Given the description of an element on the screen output the (x, y) to click on. 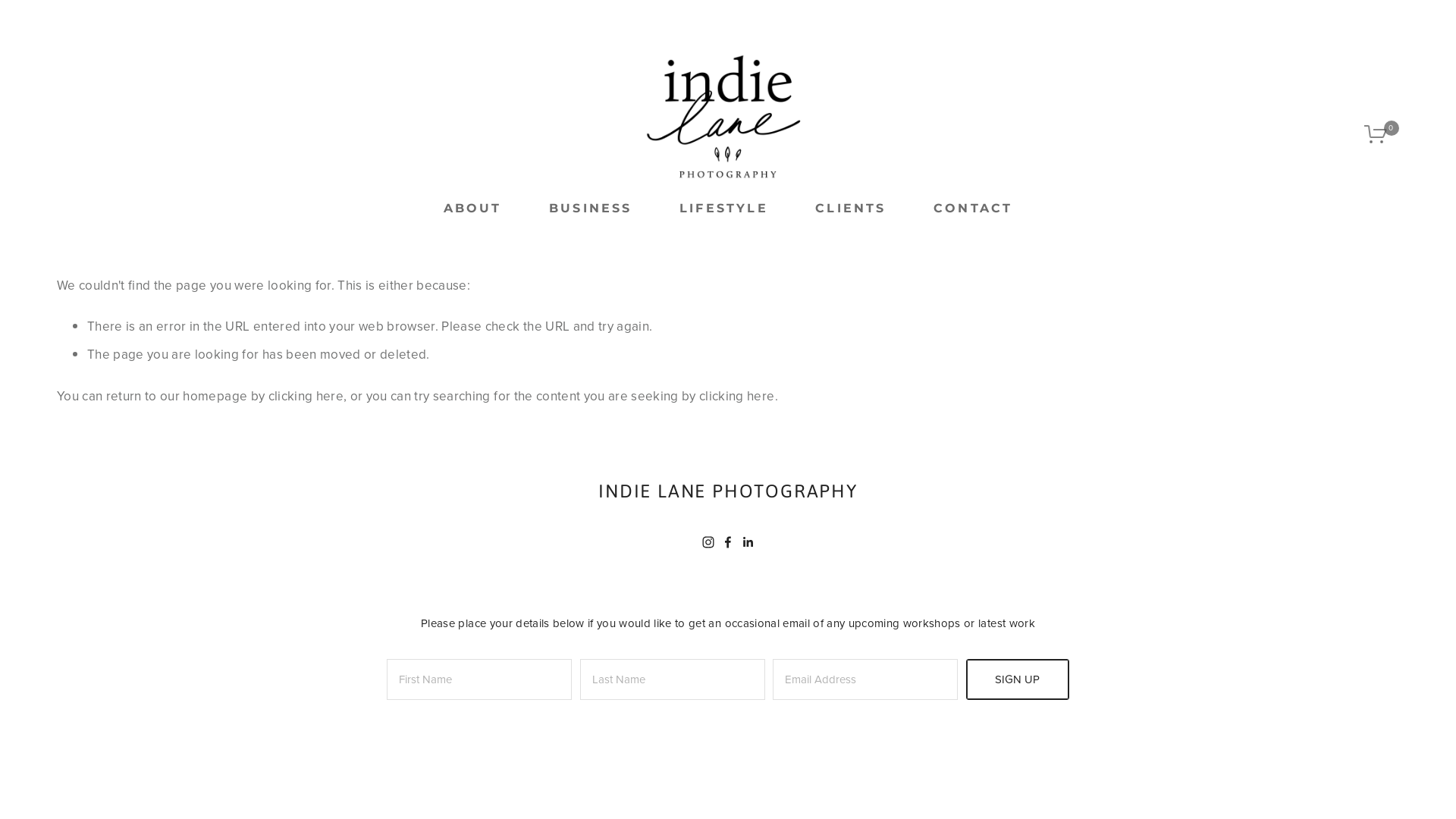
CONTACT Element type: text (972, 208)
0 Element type: text (1381, 133)
ABOUT Element type: text (472, 207)
BUSINESS Element type: text (590, 207)
LIFESTYLE Element type: text (723, 207)
clicking here Element type: text (736, 395)
CLIENTS Element type: text (850, 207)
clicking here Element type: text (305, 395)
SIGN UP Element type: text (1017, 678)
